Given the description of an element on the screen output the (x, y) to click on. 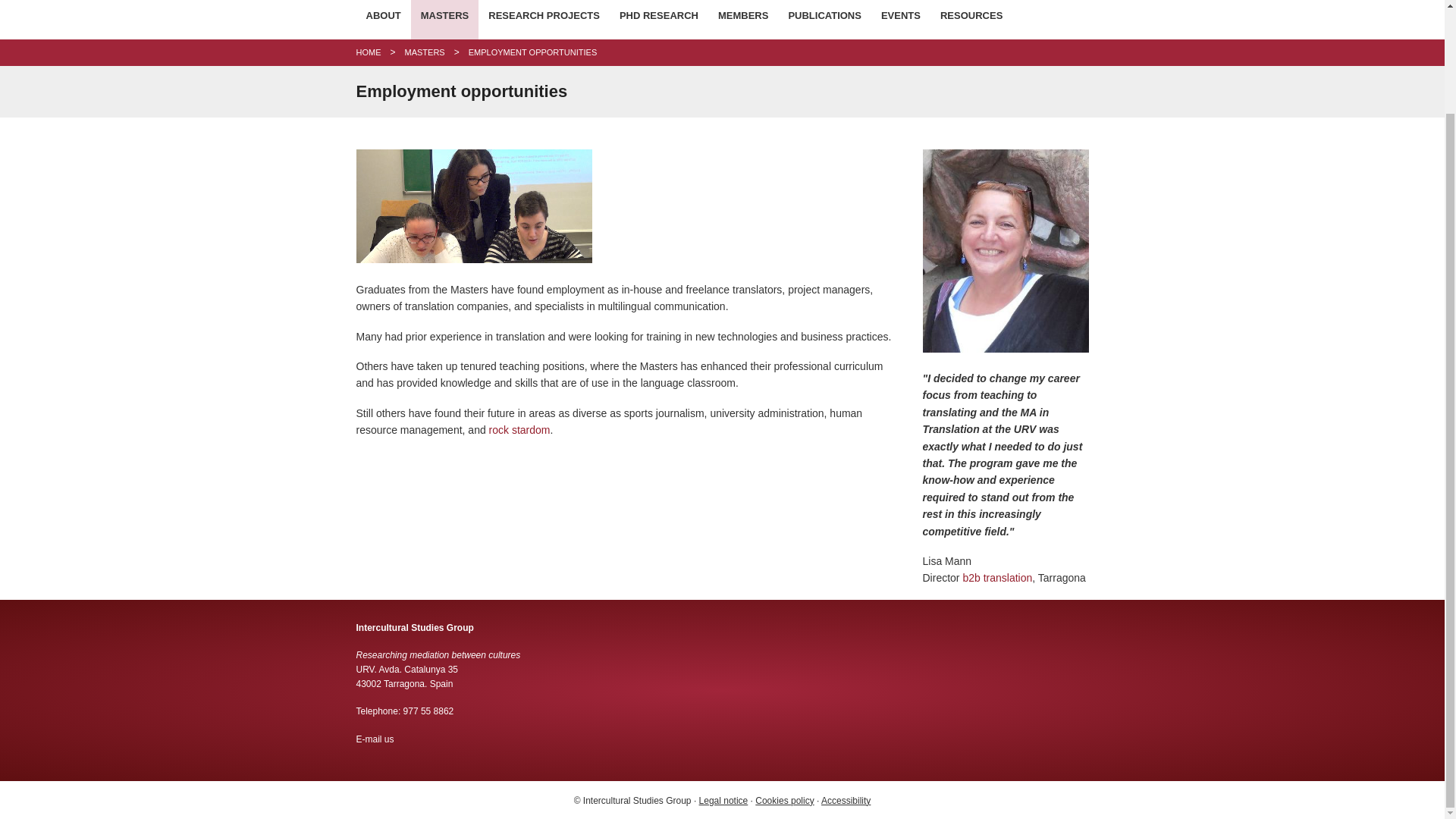
RESEARCH PROJECTS (544, 19)
PHD RESEARCH (658, 19)
Home (368, 51)
ABOUT (383, 19)
Masters (424, 51)
MASTERS (444, 19)
